Given the description of an element on the screen output the (x, y) to click on. 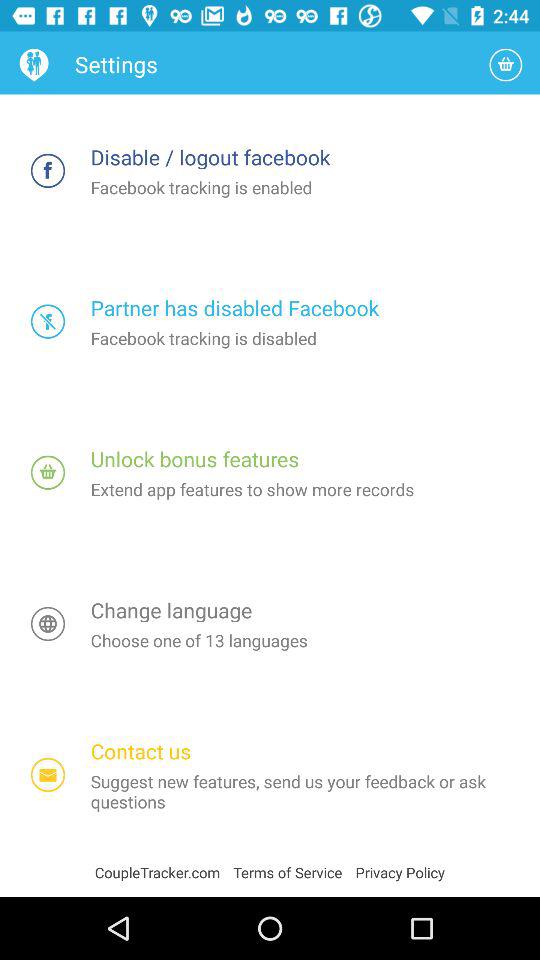
open the contact us settings (47, 774)
